Given the description of an element on the screen output the (x, y) to click on. 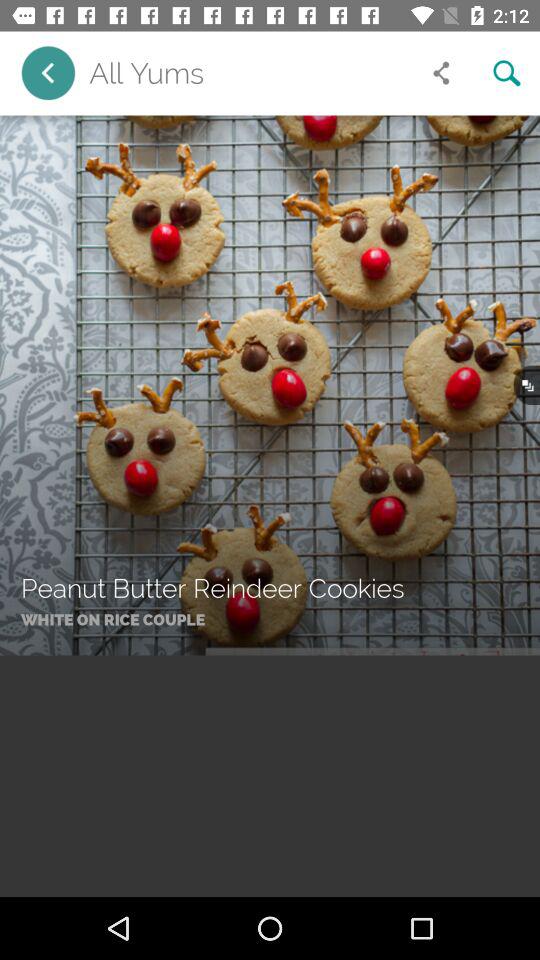
launch the icon to the right of the all yums item (441, 73)
